Given the description of an element on the screen output the (x, y) to click on. 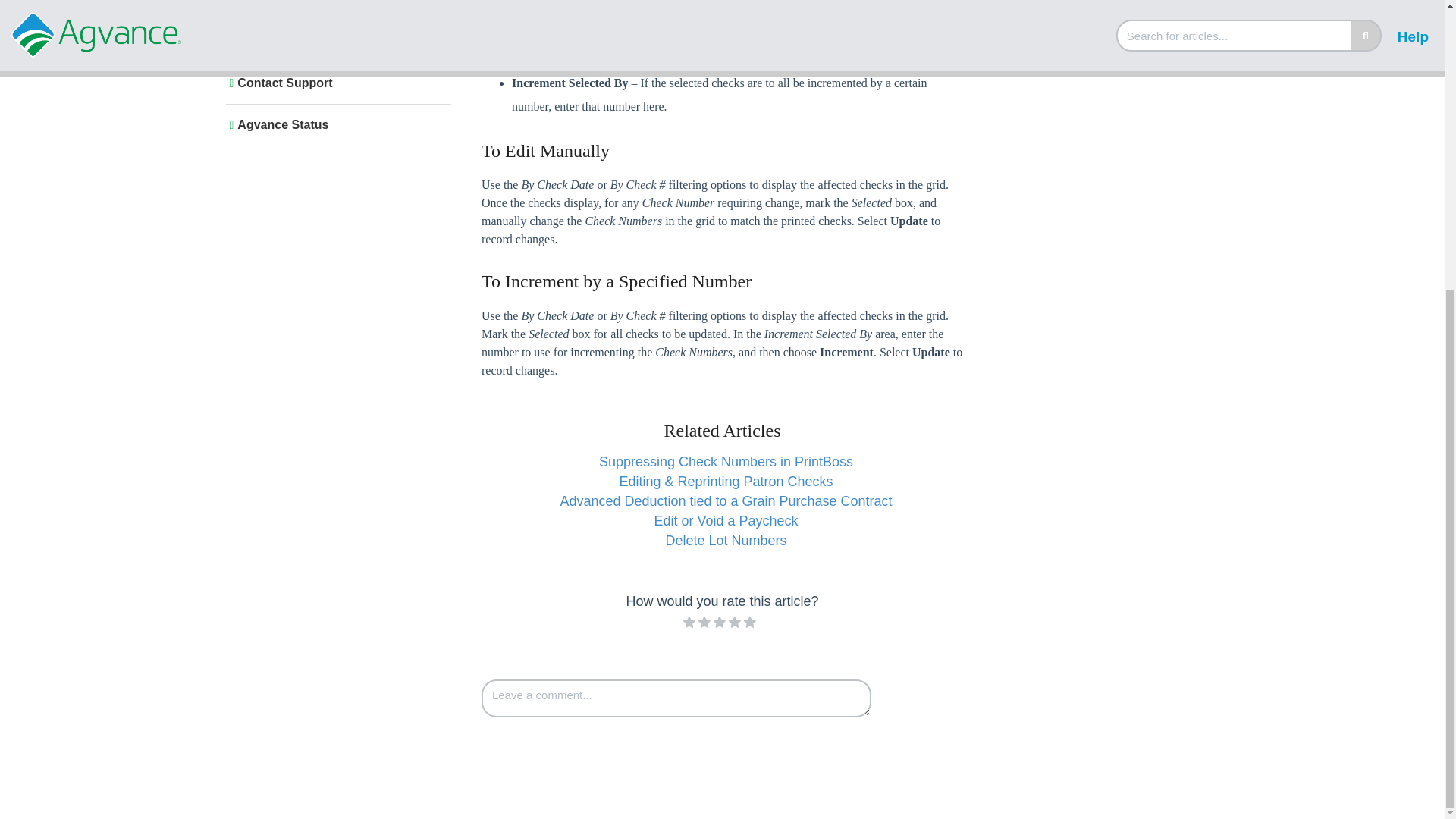
Contact Support (334, 83)
Agvance Status (334, 125)
Agvance Website (334, 42)
